Given the description of an element on the screen output the (x, y) to click on. 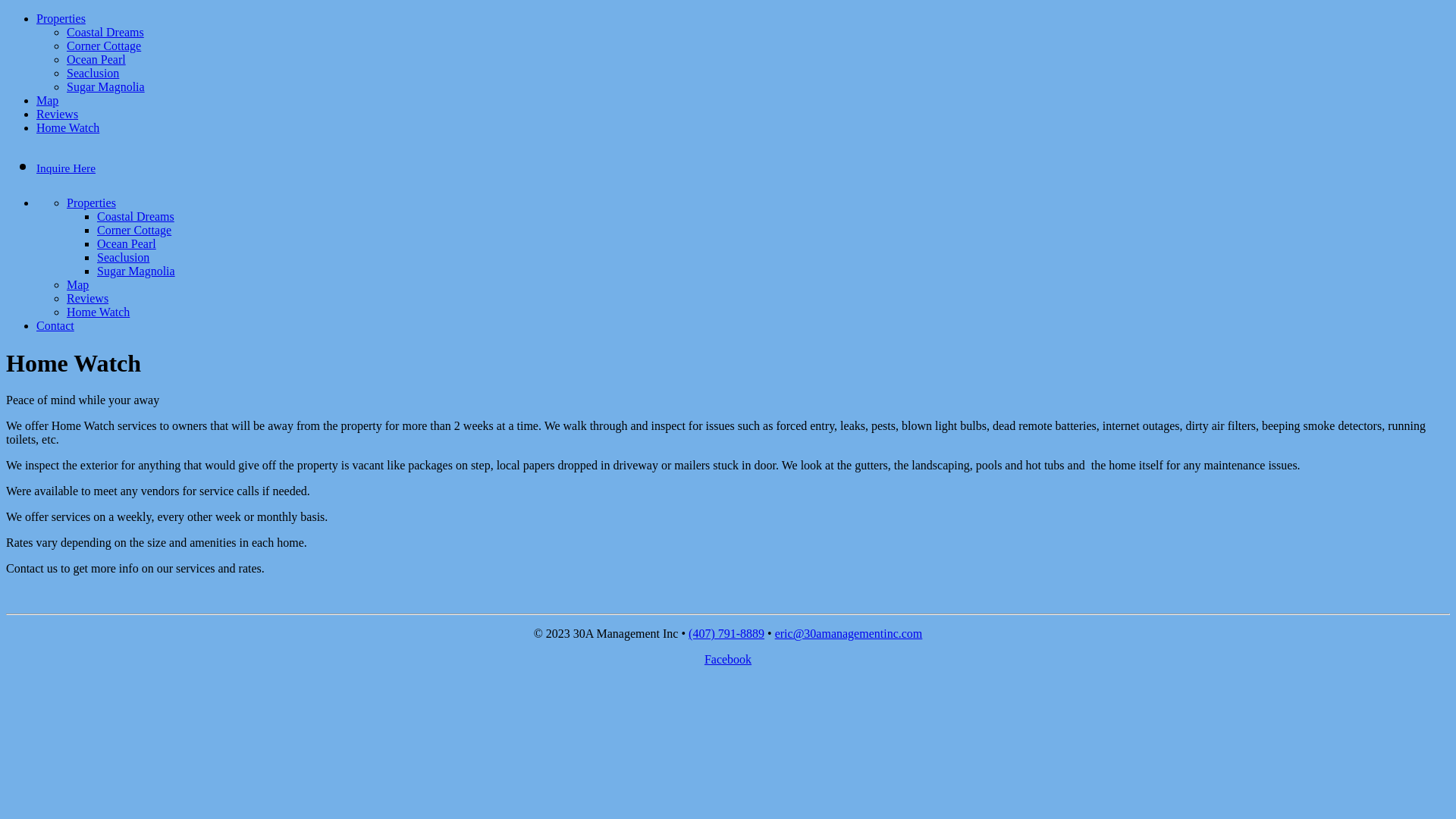
Properties Element type: text (60, 18)
Sugar Magnolia Element type: text (136, 270)
Properties Element type: text (91, 203)
Contact Element type: text (55, 325)
Inquire Here Element type: text (65, 167)
Sugar Magnolia Element type: text (105, 86)
Home Watch Element type: text (67, 127)
Map Element type: text (47, 100)
Reviews Element type: text (57, 113)
Corner Cottage Element type: text (134, 229)
Reviews Element type: text (87, 297)
Ocean Pearl Element type: text (95, 59)
Coastal Dreams Element type: text (105, 31)
Coastal Dreams Element type: text (135, 216)
Map Element type: text (77, 284)
Corner Cottage Element type: text (103, 45)
Facebook Element type: text (727, 658)
Ocean Pearl Element type: text (126, 243)
eric@30amanagementinc.com Element type: text (848, 633)
Seaclusion Element type: text (92, 72)
Home Watch Element type: text (97, 311)
Seaclusion Element type: text (123, 257)
(407) 791-8889 Element type: text (726, 633)
